Given the description of an element on the screen output the (x, y) to click on. 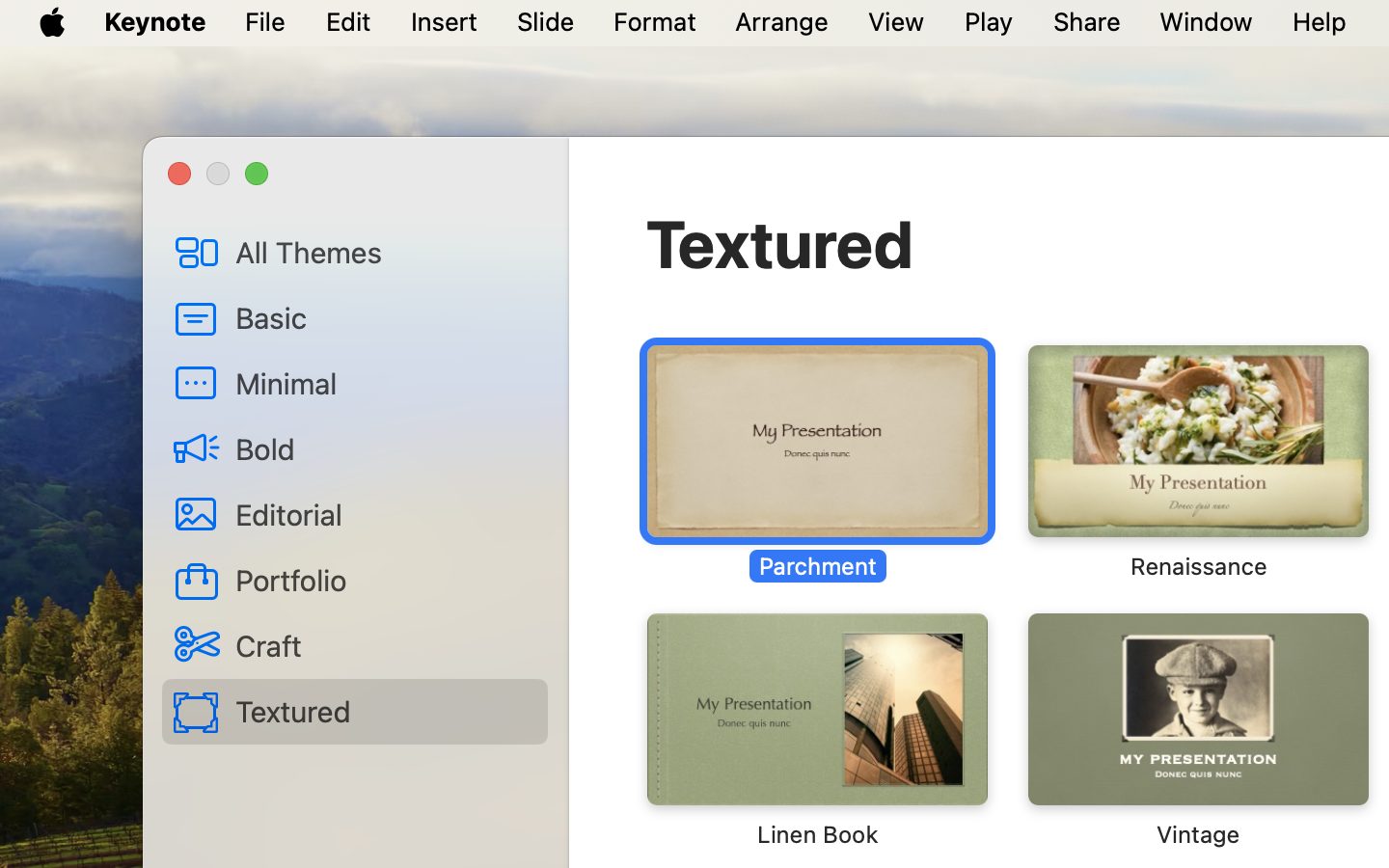
Craft Element type: AXStaticText (383, 644)
Basic Element type: AXStaticText (383, 316)
All Themes Element type: AXStaticText (383, 251)
‎⁨Parchment⁩ Element type: AXButton (816, 462)
‎⁨Renaissance⁩ Element type: AXButton (1196, 462)
